Given the description of an element on the screen output the (x, y) to click on. 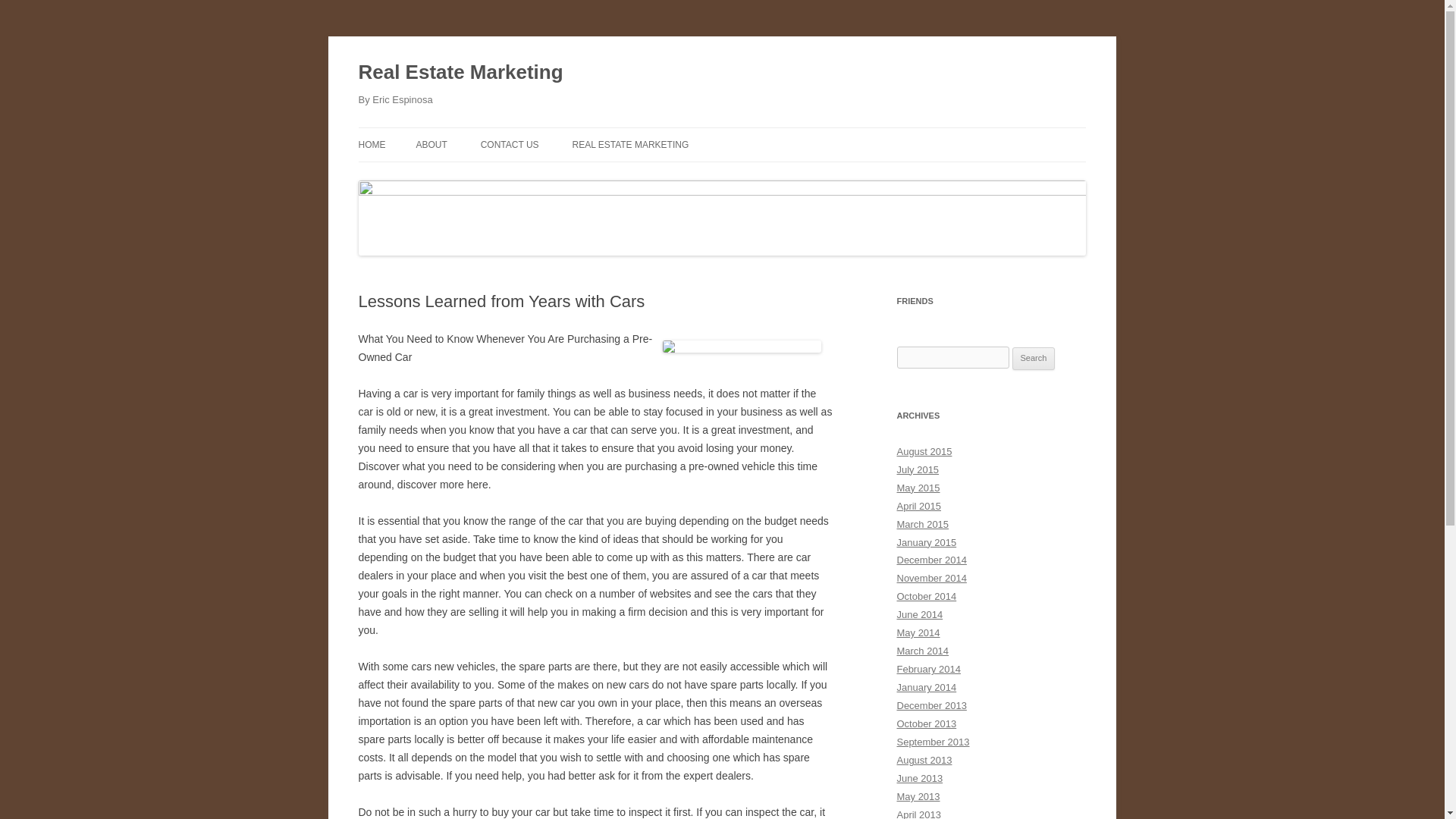
December 2014 (931, 559)
October 2013 (926, 723)
August 2015 (924, 451)
June 2014 (919, 614)
Skip to content (757, 132)
February 2014 (927, 668)
Real Estate Marketing (460, 72)
January 2015 (926, 542)
September 2013 (932, 741)
CONTACT US (509, 144)
